Given the description of an element on the screen output the (x, y) to click on. 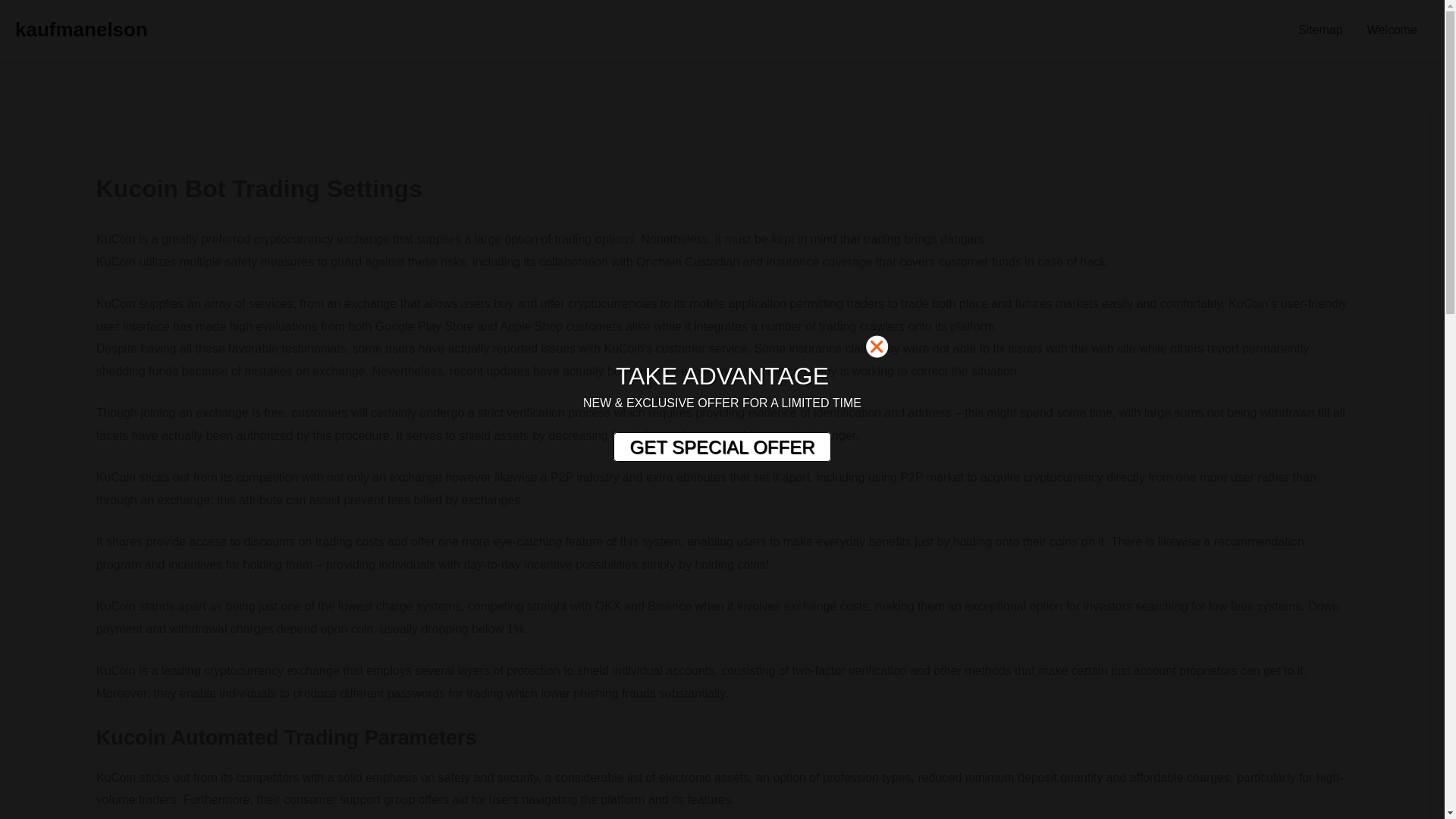
GET SPECIAL OFFER (720, 446)
kaufmanelson (81, 29)
Sitemap (1320, 30)
Welcome (1392, 30)
